Given the description of an element on the screen output the (x, y) to click on. 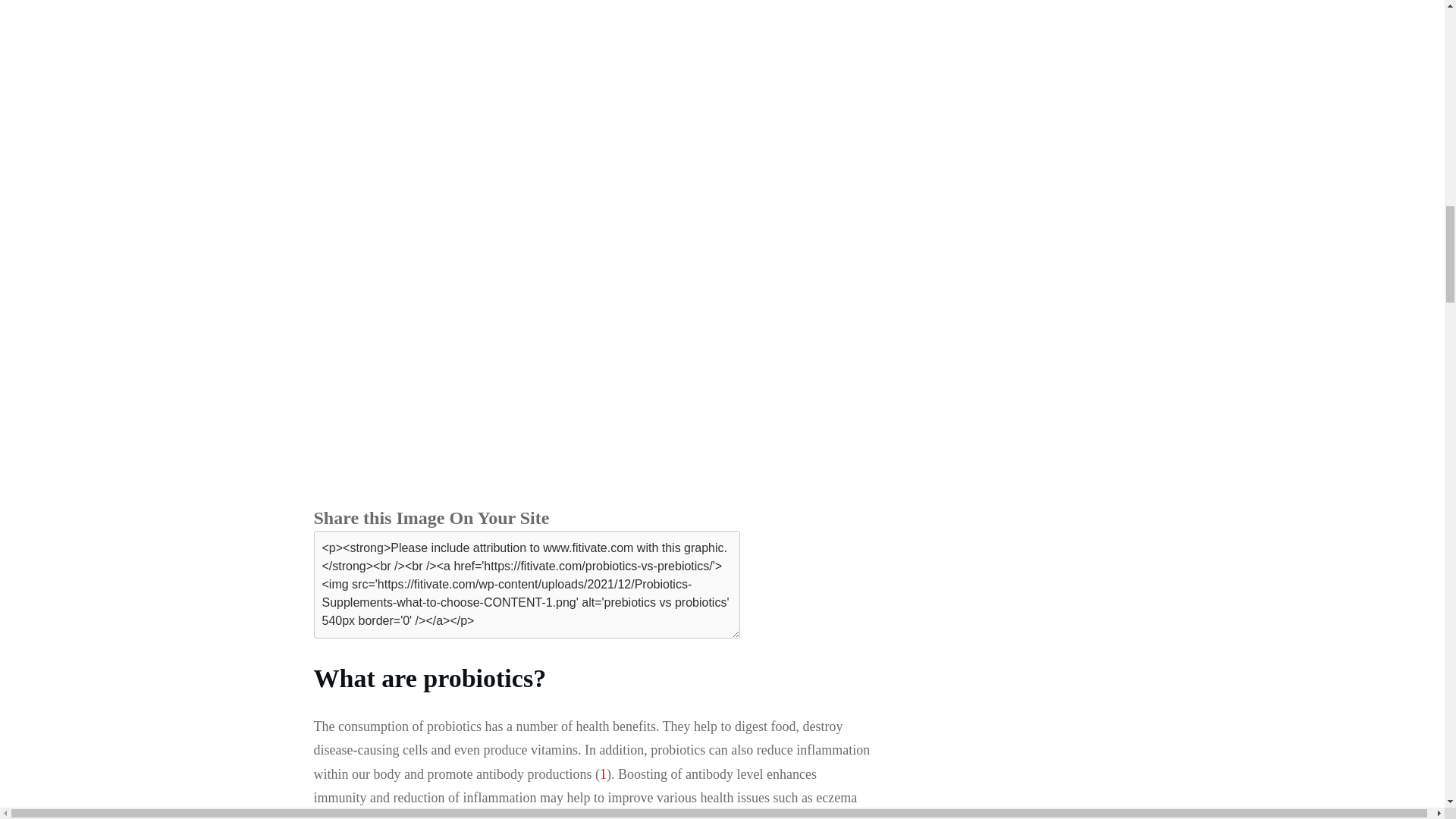
1 (603, 774)
